Given the description of an element on the screen output the (x, y) to click on. 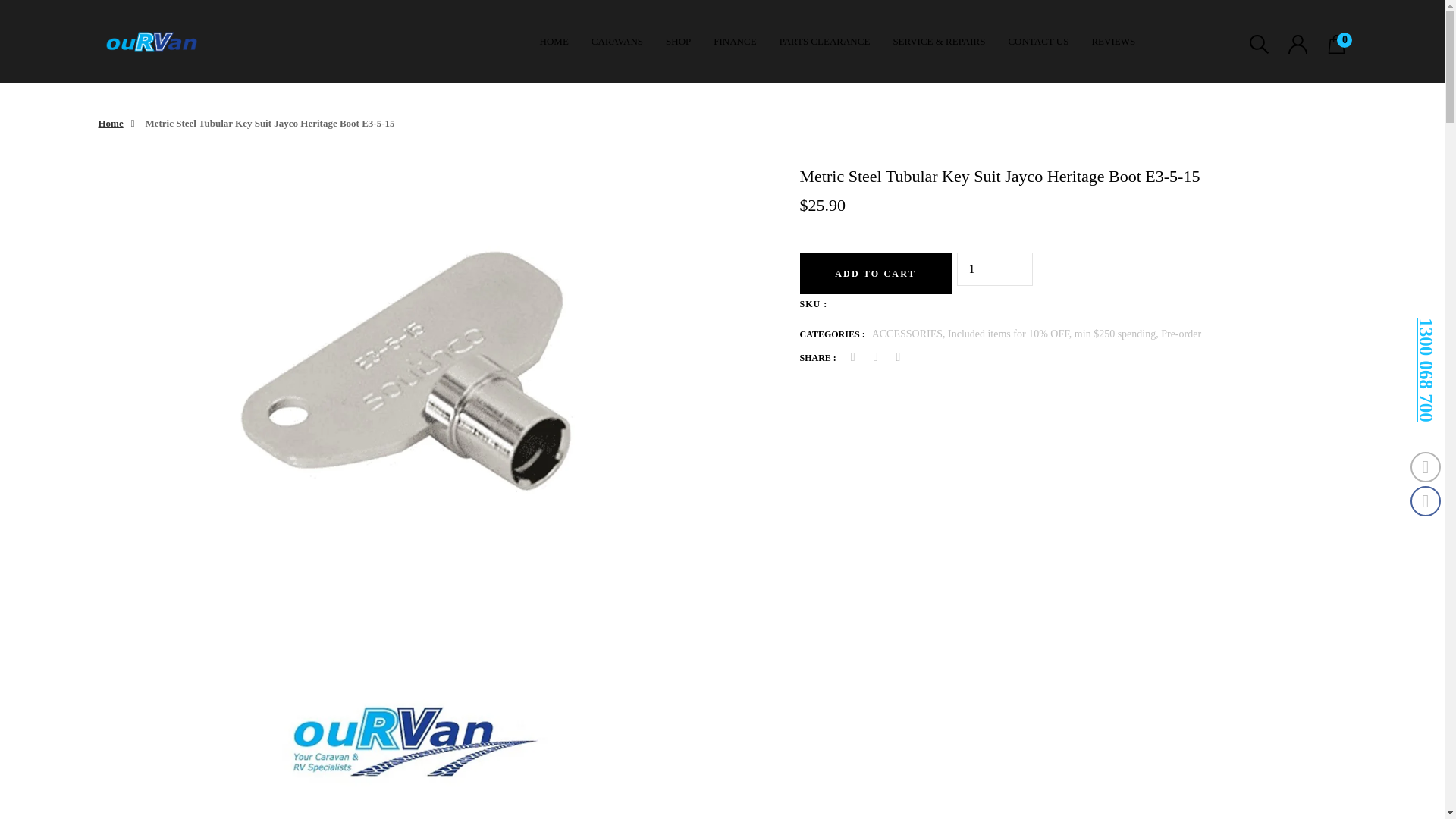
HOME (554, 41)
Home (554, 41)
CARAVANS (617, 41)
1 (994, 268)
Shop (677, 41)
SHOP (677, 41)
Caravans (617, 41)
